Given the description of an element on the screen output the (x, y) to click on. 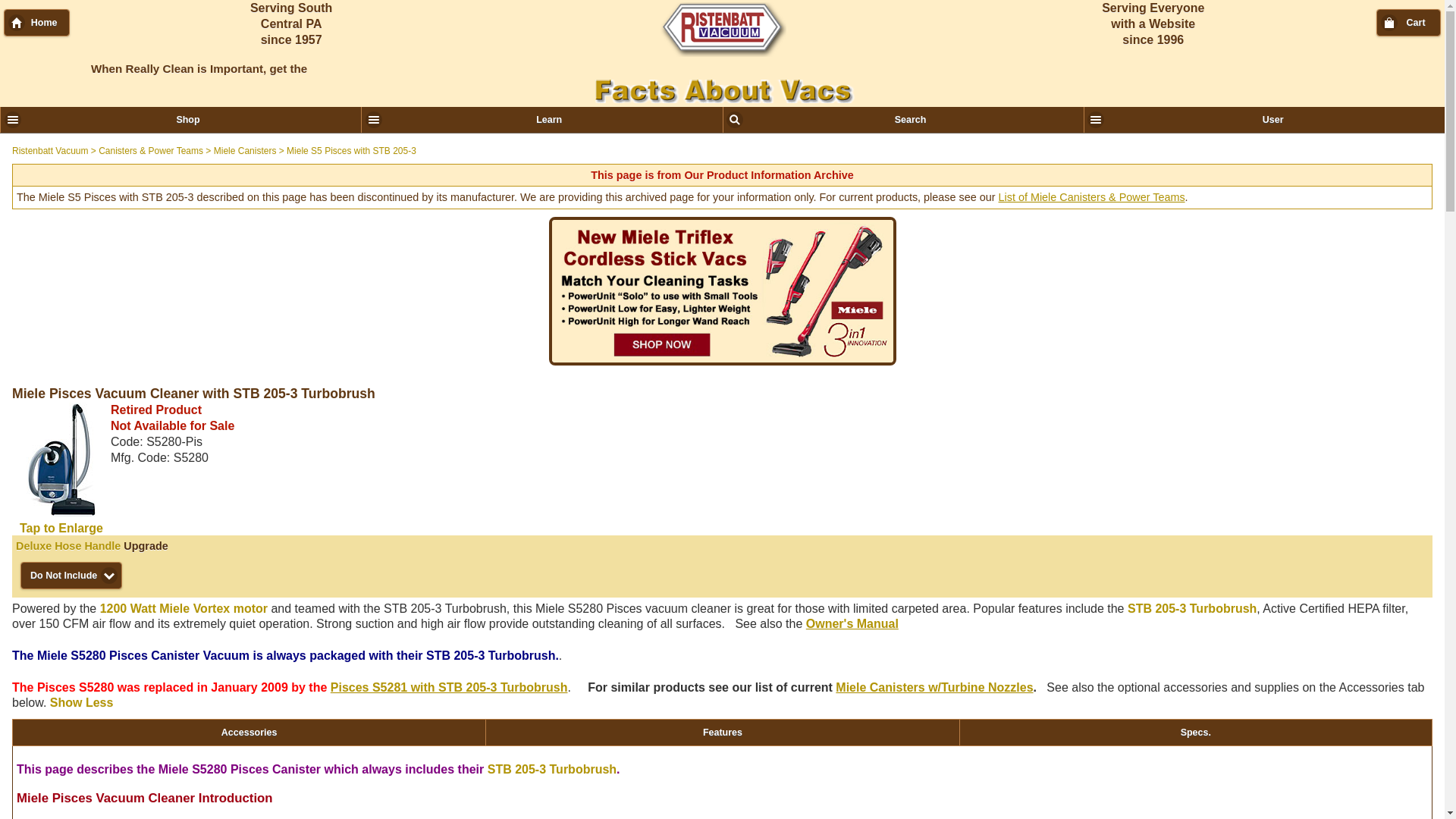
Deluxe Hose Handle (68, 545)
Ristenbatt Vacuum (49, 150)
Features (721, 732)
1200 Watt Miele Vortex motor (183, 608)
STB 205-3 Turbobrush (551, 768)
Pisces S5281 with STB 205-3 Turbobrush (448, 686)
Miele Canisters (245, 150)
Show Less (81, 702)
STB 205-3 Turbobrush (1191, 608)
Learn (541, 119)
